Given the description of an element on the screen output the (x, y) to click on. 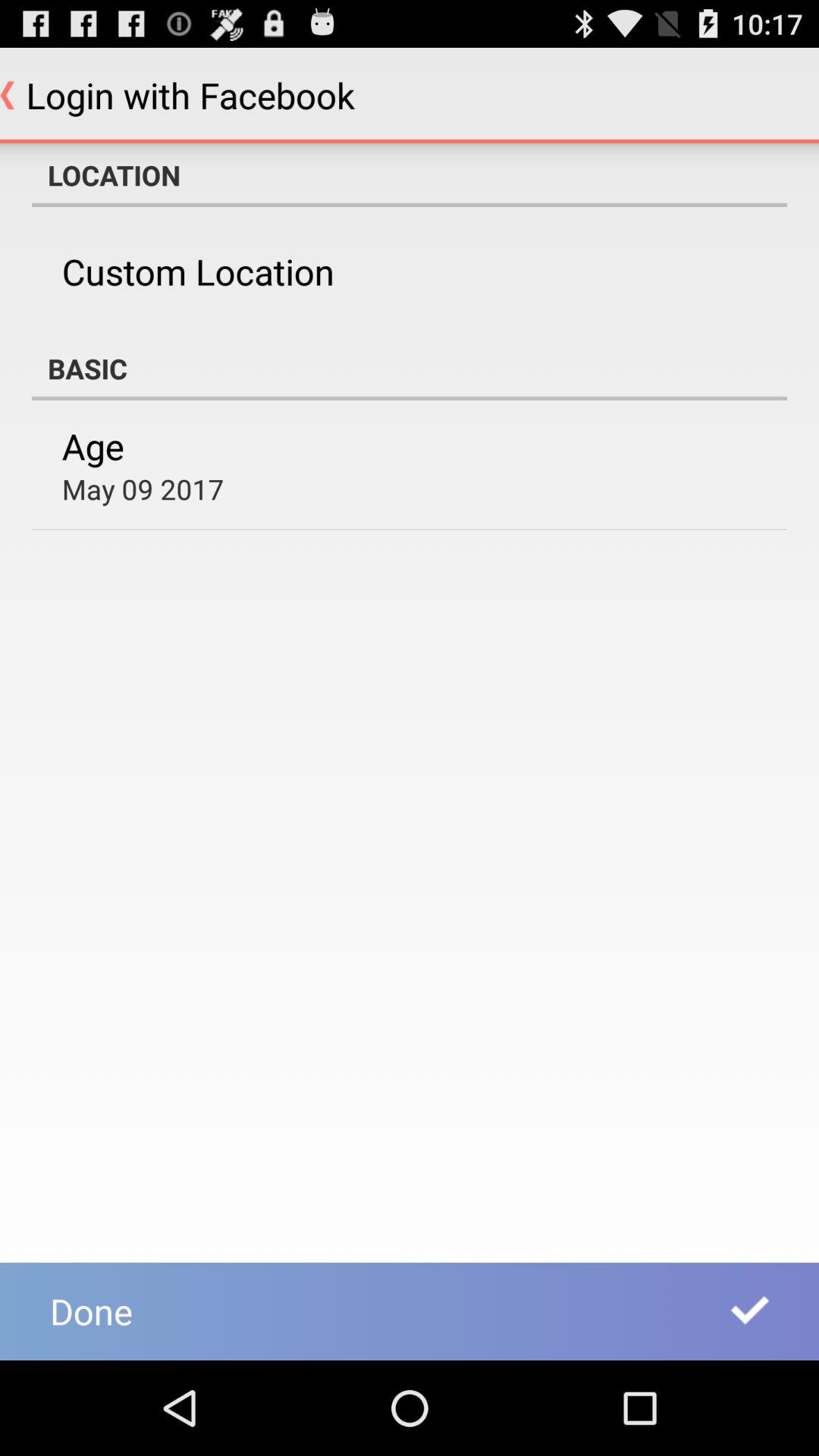
turn on the item below the basic icon (92, 446)
